Given the description of an element on the screen output the (x, y) to click on. 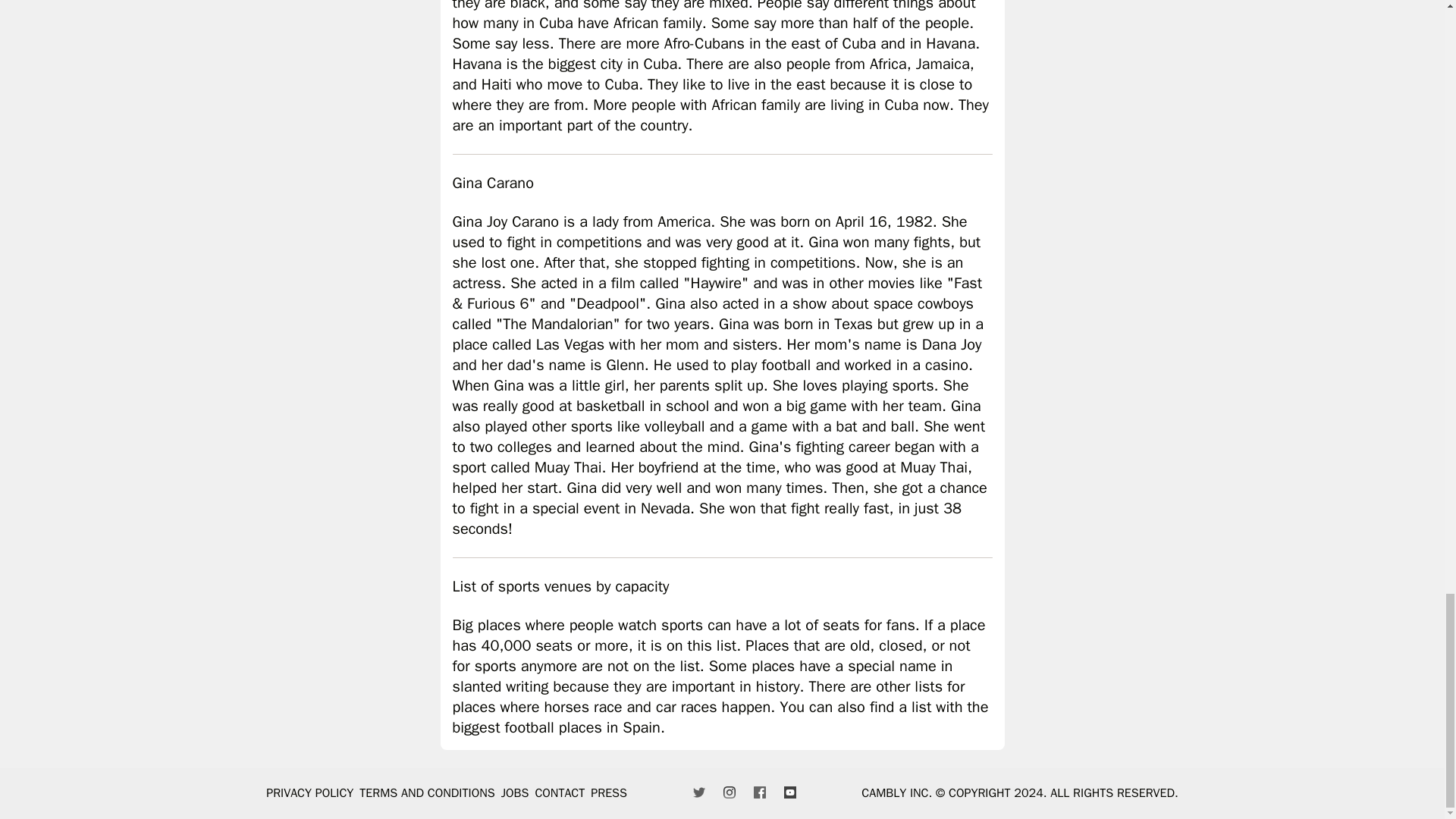
PRIVACY POLICY (309, 793)
TERMS AND CONDITIONS (427, 793)
JOBS (514, 793)
CONTACT (559, 793)
PRESS (609, 793)
